Given the description of an element on the screen output the (x, y) to click on. 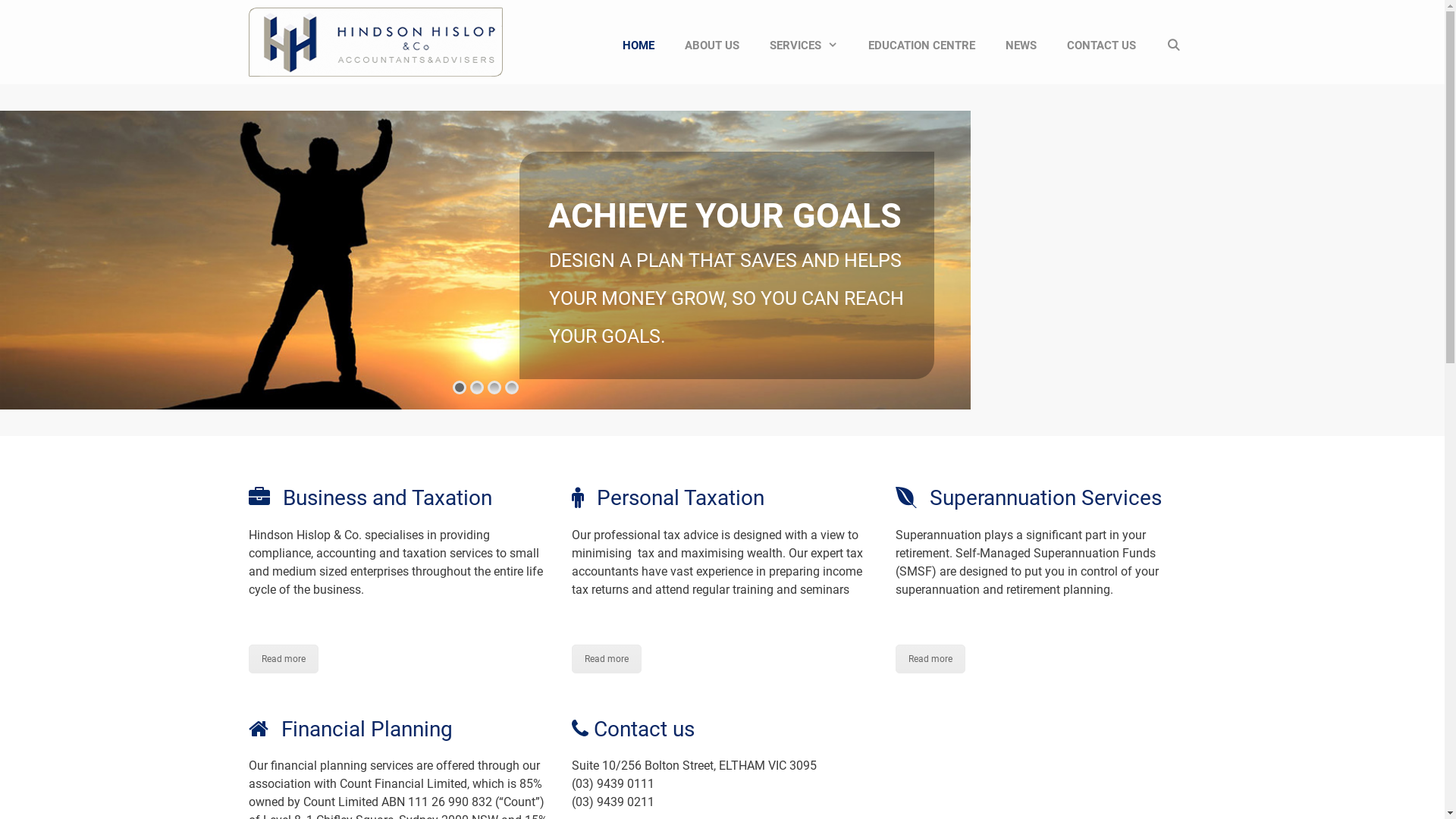
Read more Element type: text (283, 658)
CONTACT US Element type: text (1101, 45)
ABOUT US Element type: text (711, 45)
HOME Element type: text (638, 45)
Read more Element type: text (930, 658)
EDUCATION CENTRE Element type: text (921, 45)
NEWS Element type: text (1020, 45)
SERVICES Element type: text (803, 45)
Read more Element type: text (606, 658)
